Given the description of an element on the screen output the (x, y) to click on. 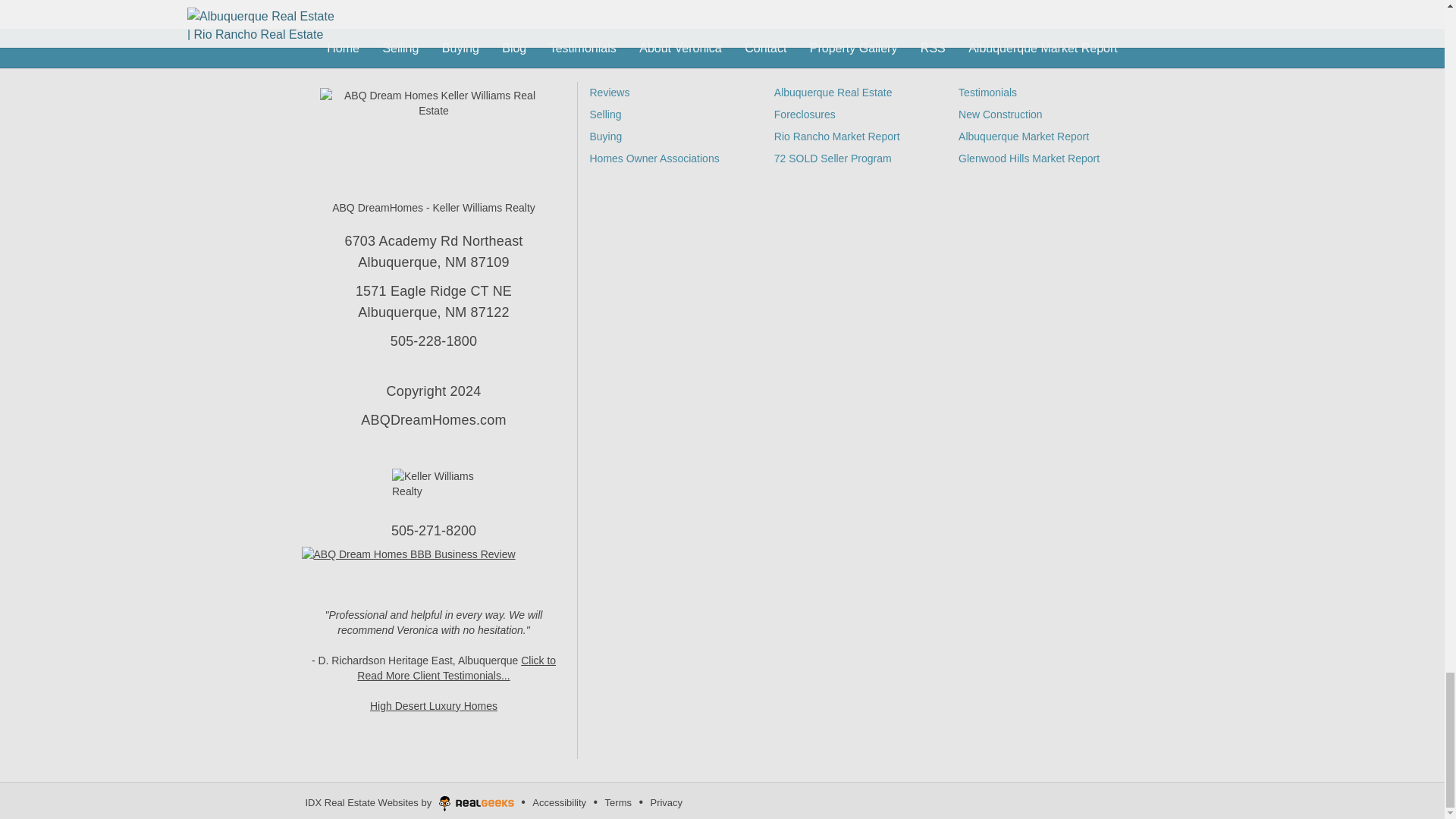
High Desert Homes for Sale (433, 705)
Client Testimonials (456, 667)
